Given the description of an element on the screen output the (x, y) to click on. 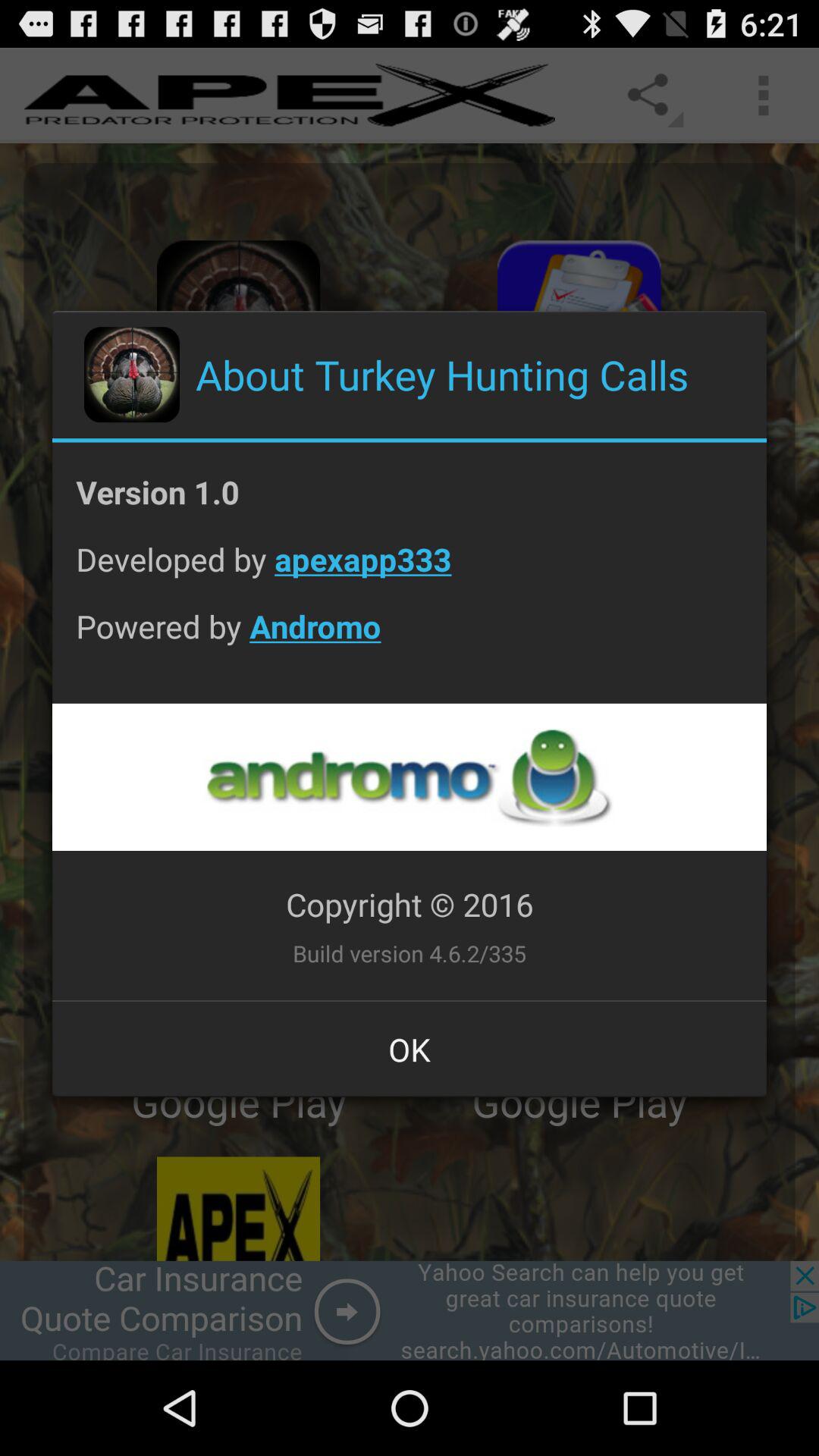
jump until developed by apexapp333 (409, 570)
